Given the description of an element on the screen output the (x, y) to click on. 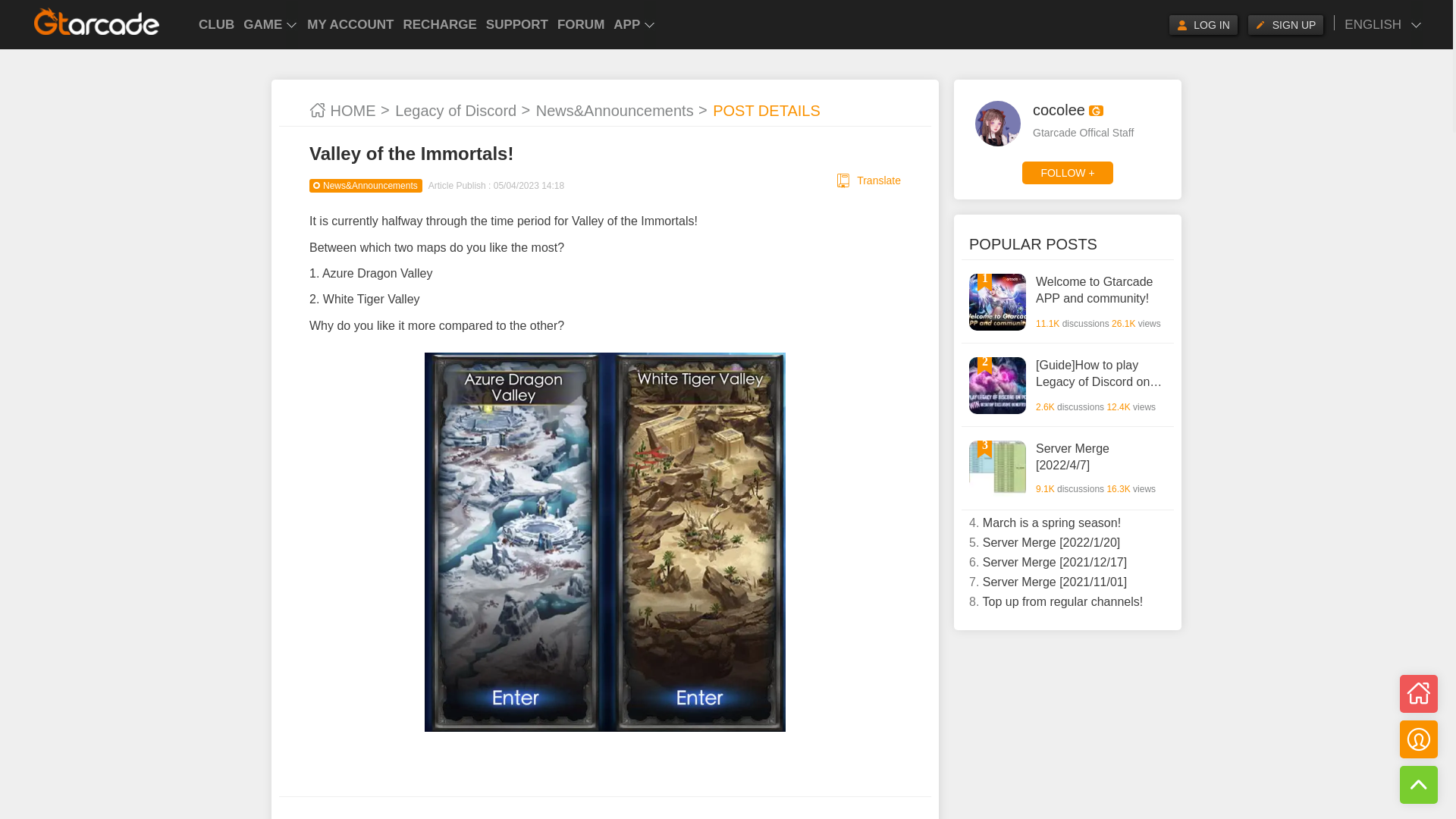
RECHARGE (440, 24)
GAME (270, 24)
LOG IN (1202, 25)
Play the best online games on GTarcade.com (96, 21)
FORUM (580, 24)
MY ACCOUNT (350, 24)
SUPPORT (517, 24)
SIGN UP (1285, 25)
